Given the description of an element on the screen output the (x, y) to click on. 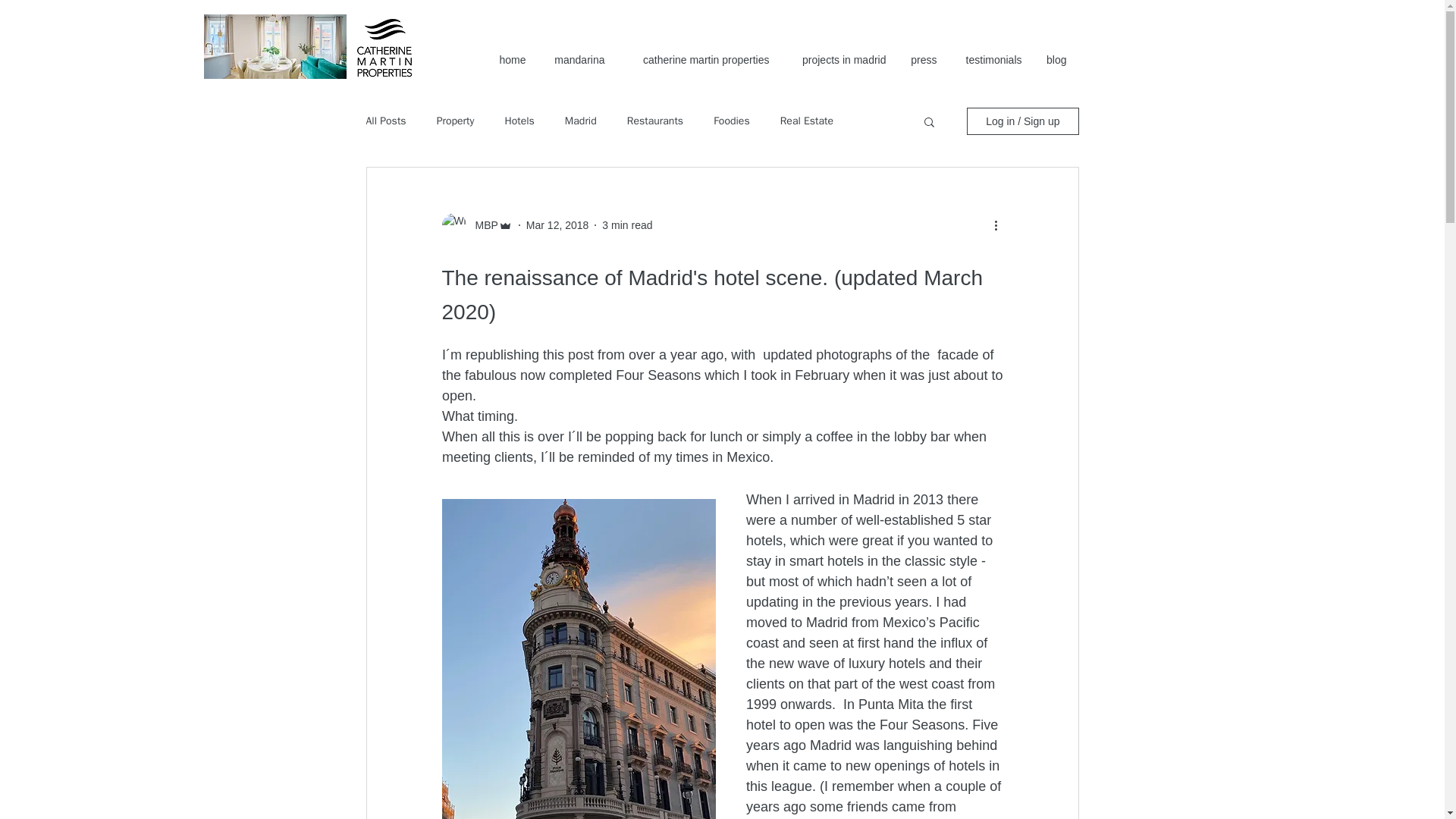
Real Estate (806, 120)
press (923, 59)
Restaurants (654, 120)
mandarina (576, 59)
All Posts (385, 120)
Property (455, 120)
Hotels (518, 120)
Mar 12, 2018 (557, 224)
projects in madrid (839, 59)
3 min read (627, 224)
blog (1054, 59)
MBP (481, 224)
home (510, 59)
testimonials (989, 59)
Madrid (580, 120)
